Given the description of an element on the screen output the (x, y) to click on. 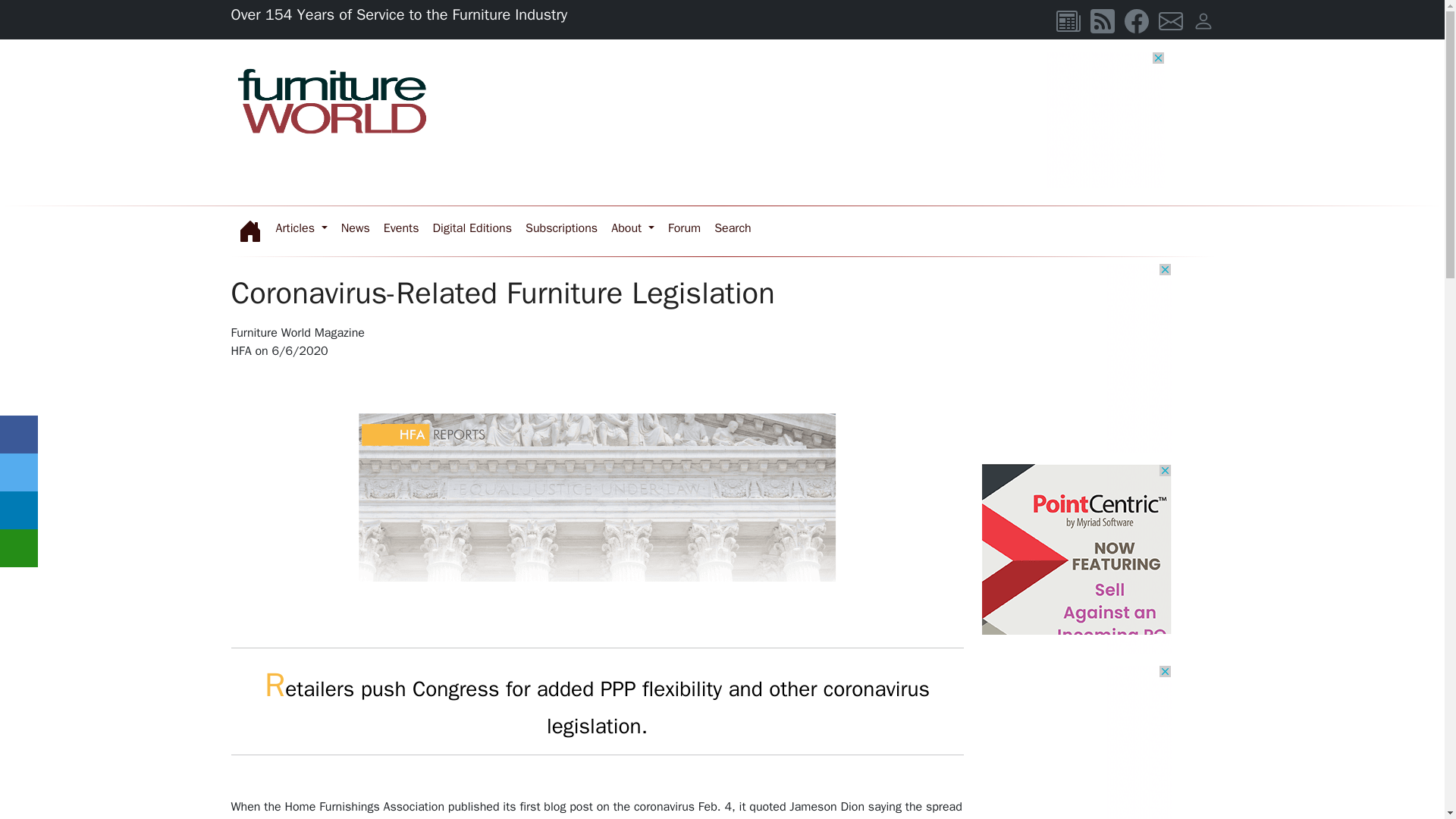
Digital Editions (472, 228)
News (355, 228)
3rd party ad content (1075, 357)
About (632, 228)
Furniture Industry Forum (684, 228)
Articles (300, 228)
Furniture Industry Magazine Digitial Editions (472, 228)
Furniture Industry Forum (732, 228)
3rd party ad content (1075, 558)
Furniture Industry Events (401, 228)
Events (401, 228)
Search (732, 228)
Furniture Industry News (355, 228)
Forum (684, 228)
3rd party ad content (888, 119)
